Given the description of an element on the screen output the (x, y) to click on. 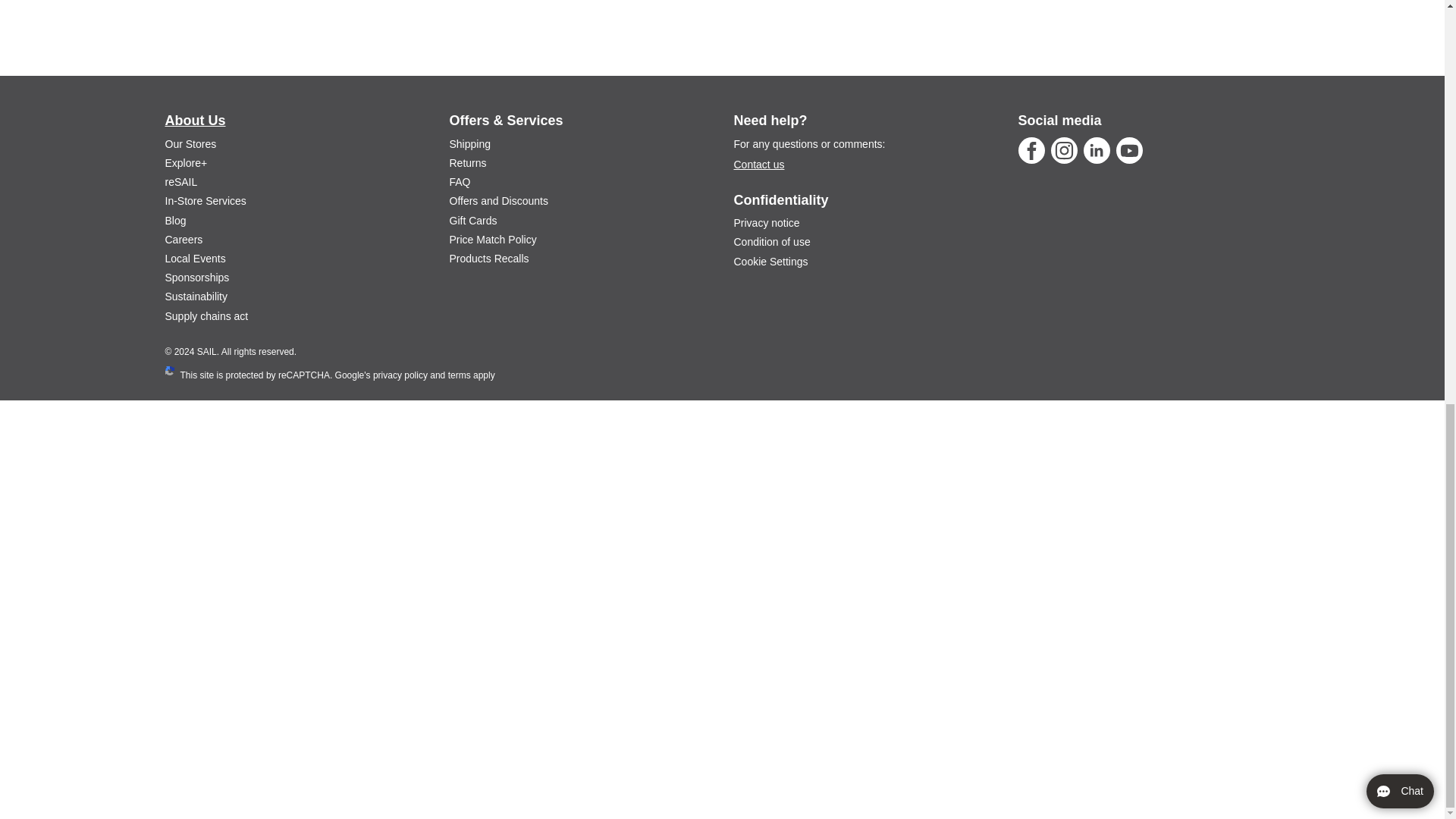
Sponsorships (197, 277)
Our Stores (190, 143)
Supply chains act (206, 316)
Sustainability (196, 296)
Career (184, 239)
Rewards Program (186, 162)
Local Events (195, 258)
Plateform for second-hand products (181, 182)
Sail Blog (175, 220)
In-Store Services (205, 200)
